Given the description of an element on the screen output the (x, y) to click on. 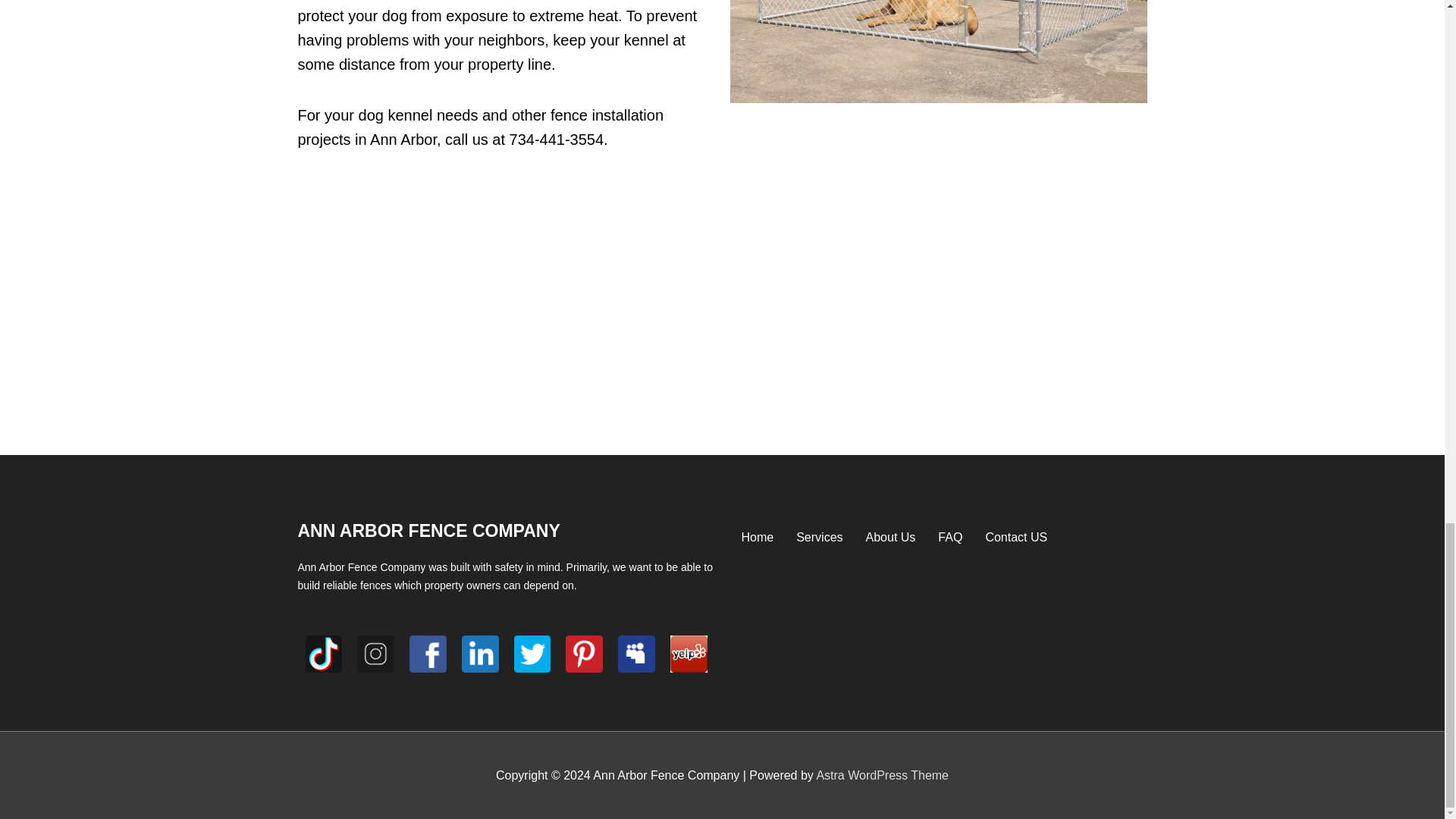
About Us (890, 537)
Home (756, 537)
Contact US (1016, 537)
Services (818, 537)
FAQ (950, 537)
